Given the description of an element on the screen output the (x, y) to click on. 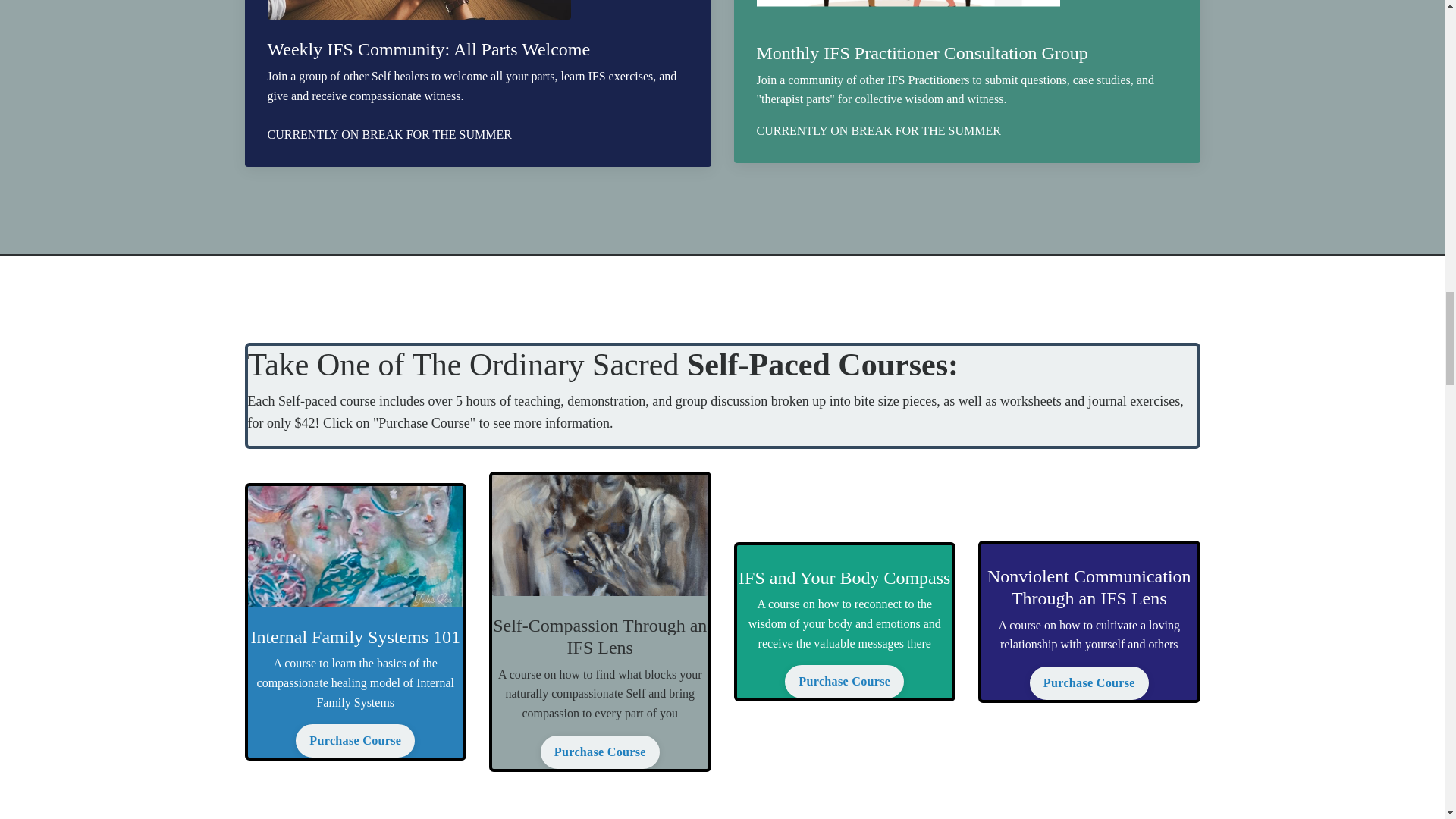
Purchase Course (1088, 683)
Purchase Course (844, 681)
Purchase Course (354, 740)
Purchase Course (599, 752)
